Given the description of an element on the screen output the (x, y) to click on. 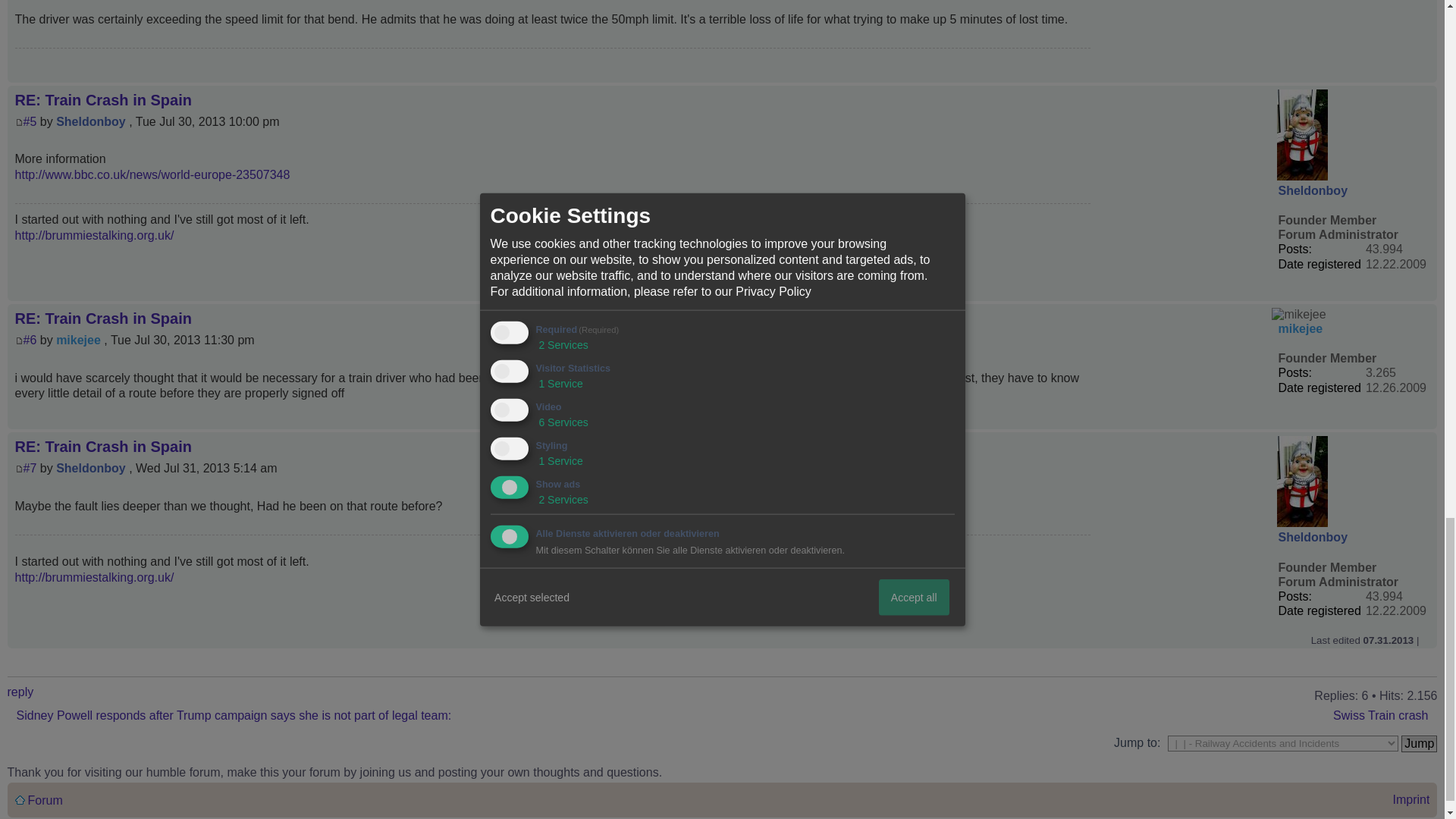
Jump (1418, 741)
RE: Train Crash in Spain (30, 82)
Top (1425, 253)
RE: Train Crash in Spain (30, 466)
Top (1425, 35)
Top (1425, 637)
RE: Train Crash in Spain (30, 300)
Show all posts (26, 656)
Top (1425, 419)
mikejee (1297, 294)
